Given the description of an element on the screen output the (x, y) to click on. 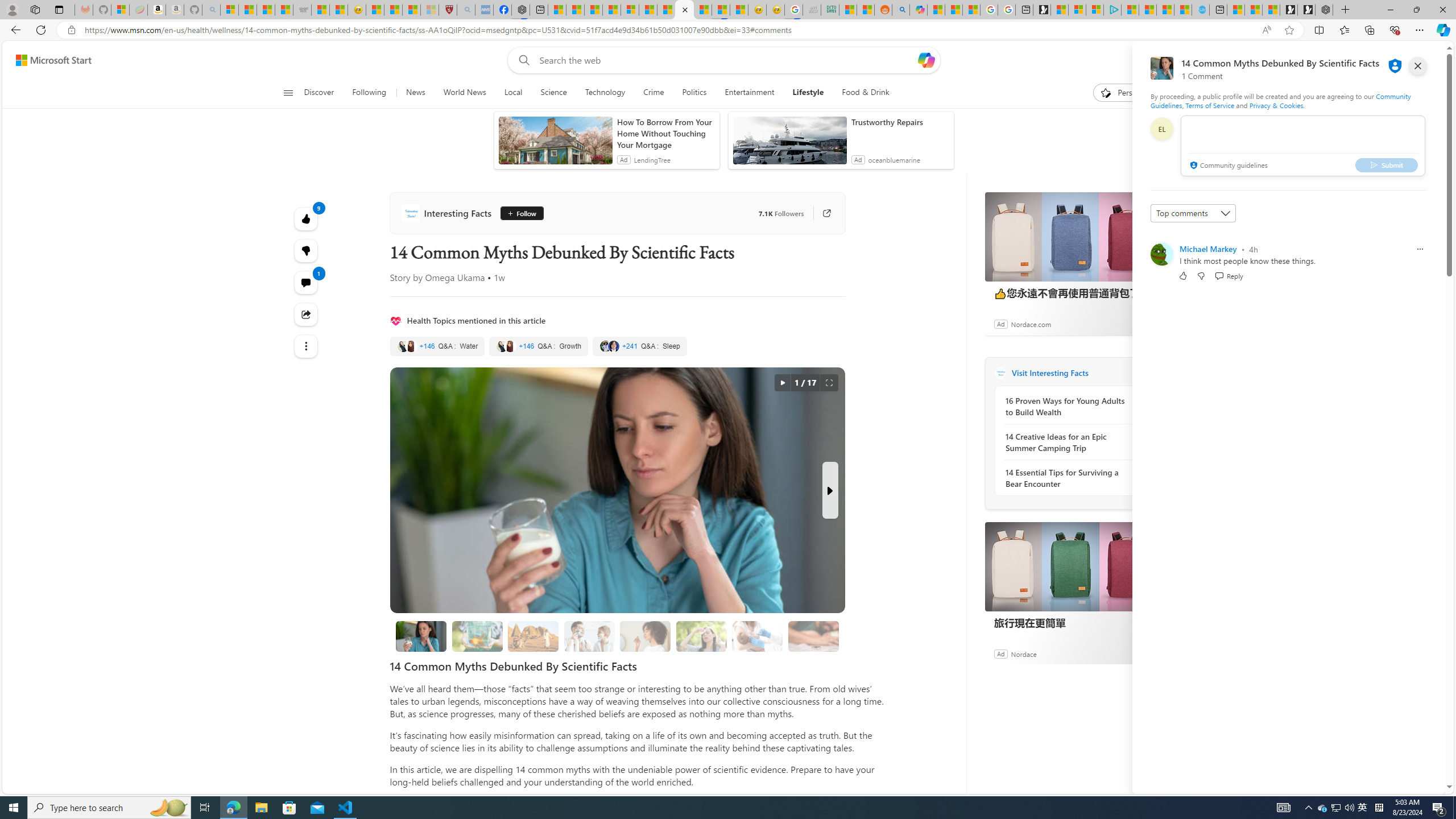
3. Extreme Heat and Humidity (700, 635)
Open settings (1420, 60)
World News (464, 92)
Sleep (639, 346)
Stocks - MSN (284, 9)
Local (513, 92)
Privacy & Cookies (1276, 104)
12. Invest in a Spider Catcher (812, 635)
